Given the description of an element on the screen output the (x, y) to click on. 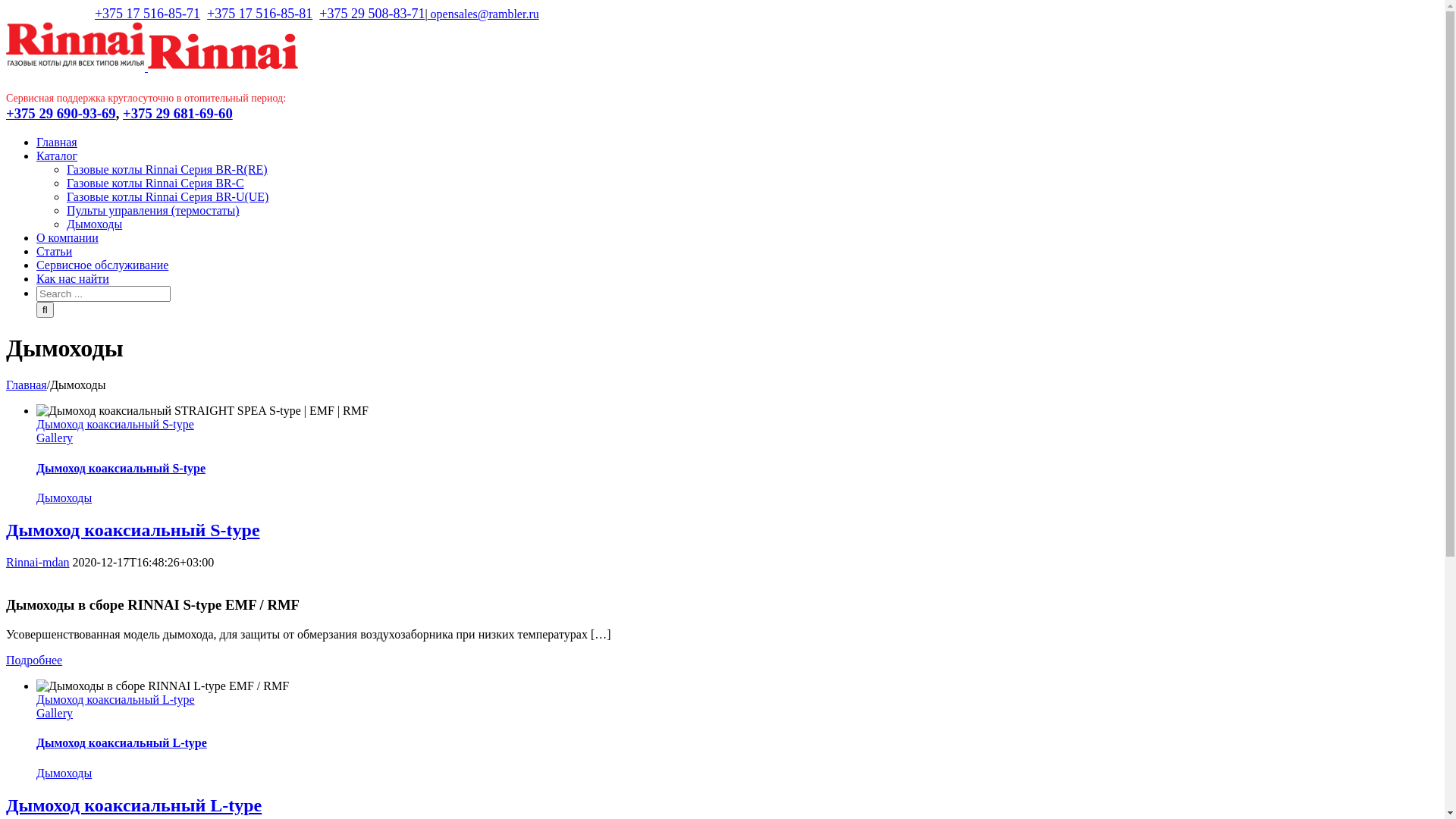
Gallery Element type: text (54, 712)
Gallery Element type: text (54, 437)
+375 17 516-85-71 Element type: text (147, 13)
Rinnai-mdan Element type: text (37, 561)
+375 29 508-83-71 Element type: text (371, 13)
opensales@rambler.ru Element type: text (483, 13)
+375 29 681-69-60 Element type: text (177, 113)
+375 29 690-93-69 Element type: text (61, 113)
+375 17 516-85-81 Element type: text (259, 13)
